Given the description of an element on the screen output the (x, y) to click on. 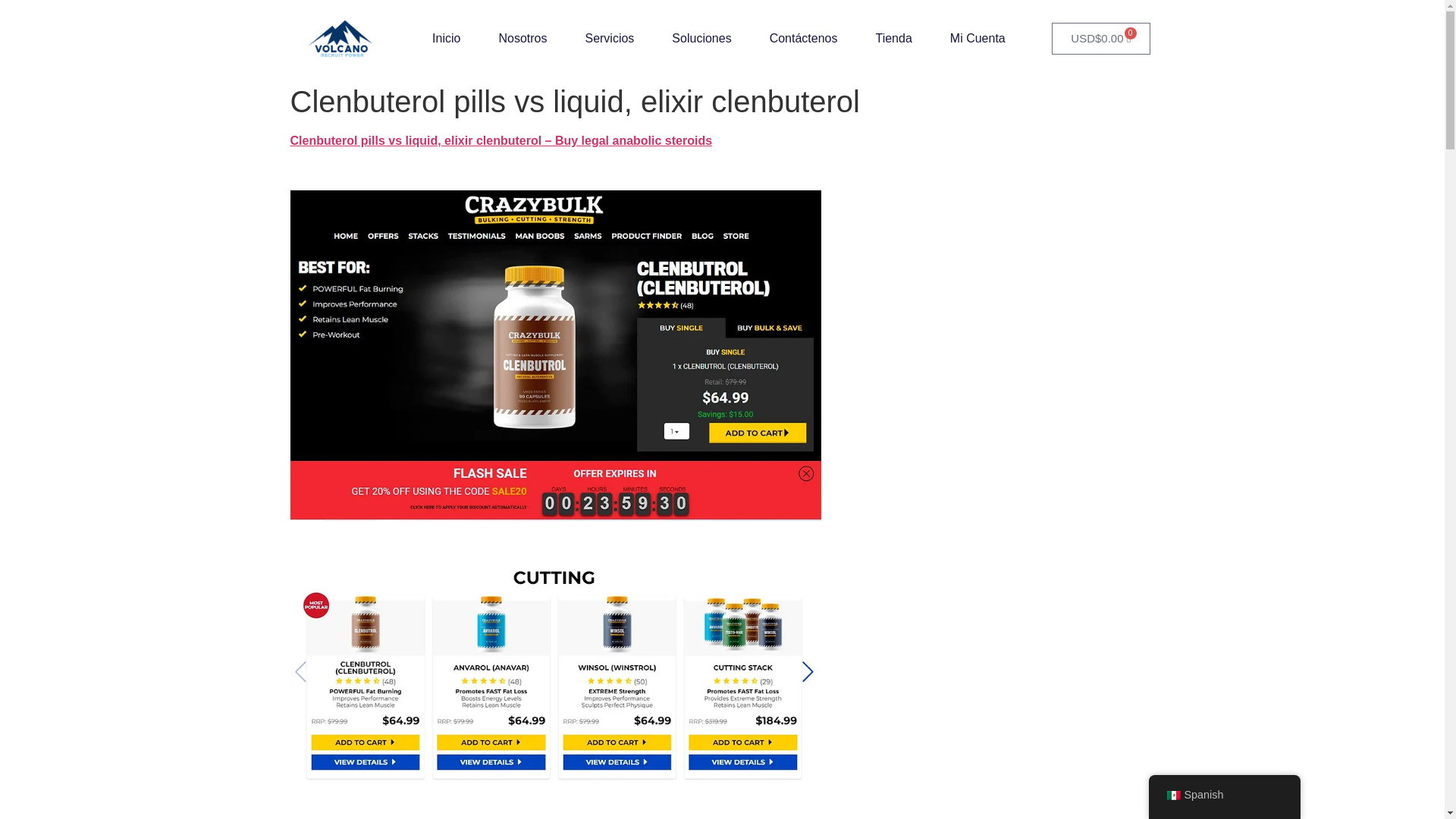
Spanish (1172, 795)
Servicios (609, 38)
Tienda (893, 38)
Spanish (1224, 795)
Soluciones (700, 38)
Mi Cuenta (978, 38)
pills clenbuterol liquid vs (555, 674)
Nosotros (522, 38)
